Given the description of an element on the screen output the (x, y) to click on. 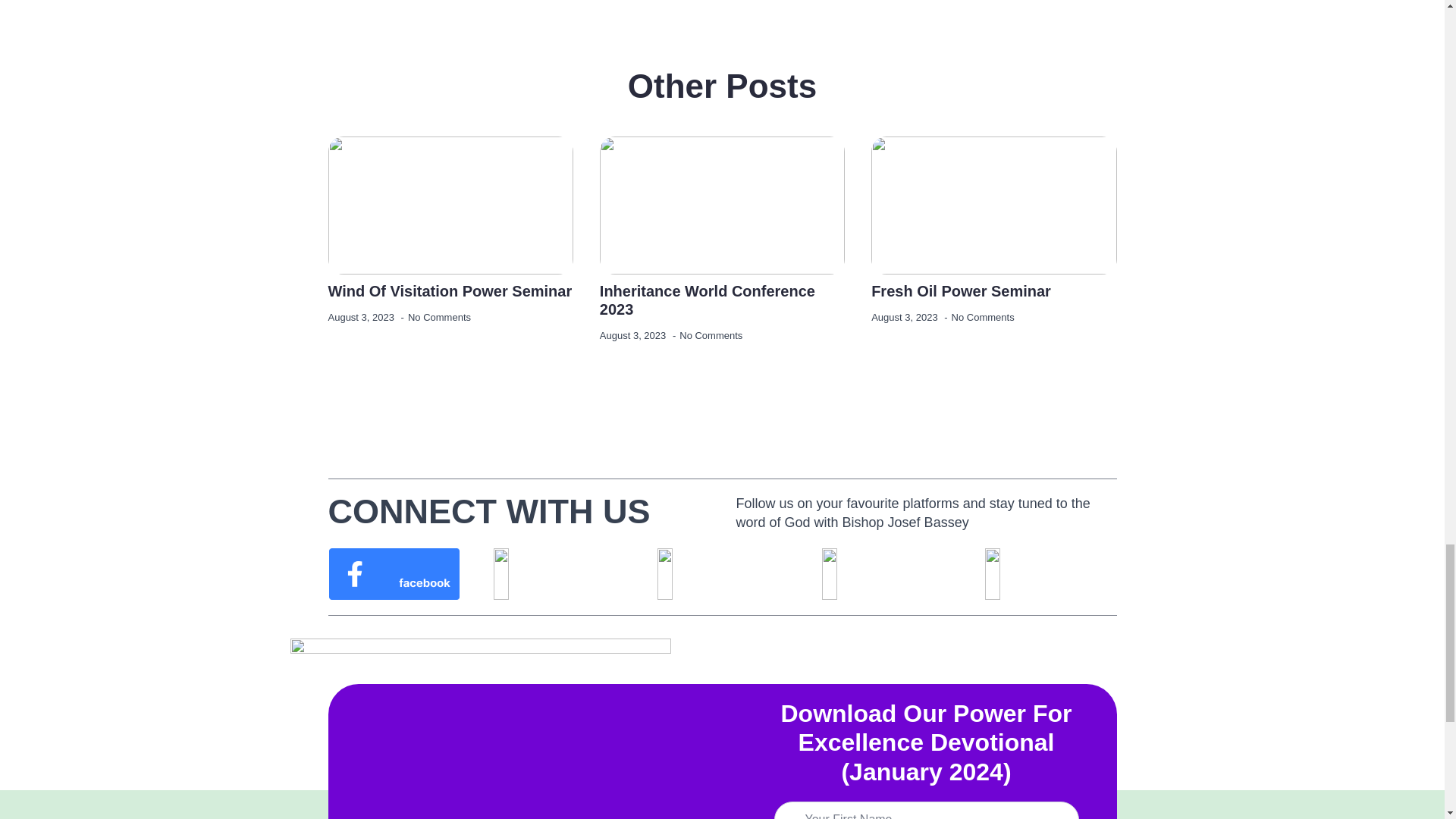
Fresh Oil Power Seminar (960, 290)
Wind Of Visitation Power Seminar (449, 290)
Inheritance World Conference 2023 (721, 299)
